Given the description of an element on the screen output the (x, y) to click on. 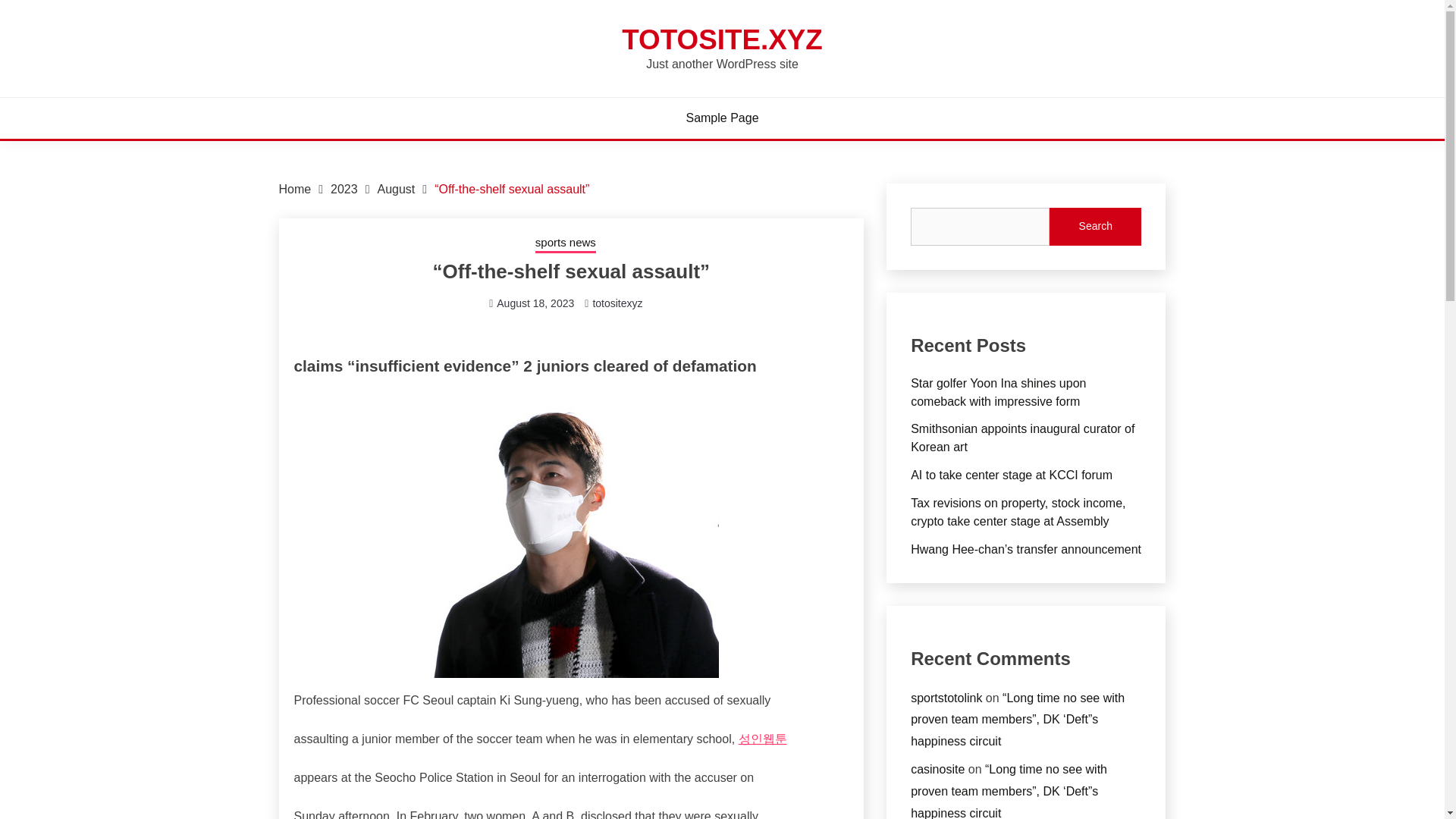
Sample Page (721, 117)
2023 (344, 188)
Home (295, 188)
Search (1095, 226)
TOTOSITE.XYZ (721, 39)
AI to take center stage at KCCI forum (1011, 474)
sports news (565, 243)
totositexyz (617, 303)
August 18, 2023 (534, 303)
sportstotolink (946, 697)
August (395, 188)
Smithsonian appoints inaugural curator of Korean art (1022, 437)
casinosite (937, 768)
